Given the description of an element on the screen output the (x, y) to click on. 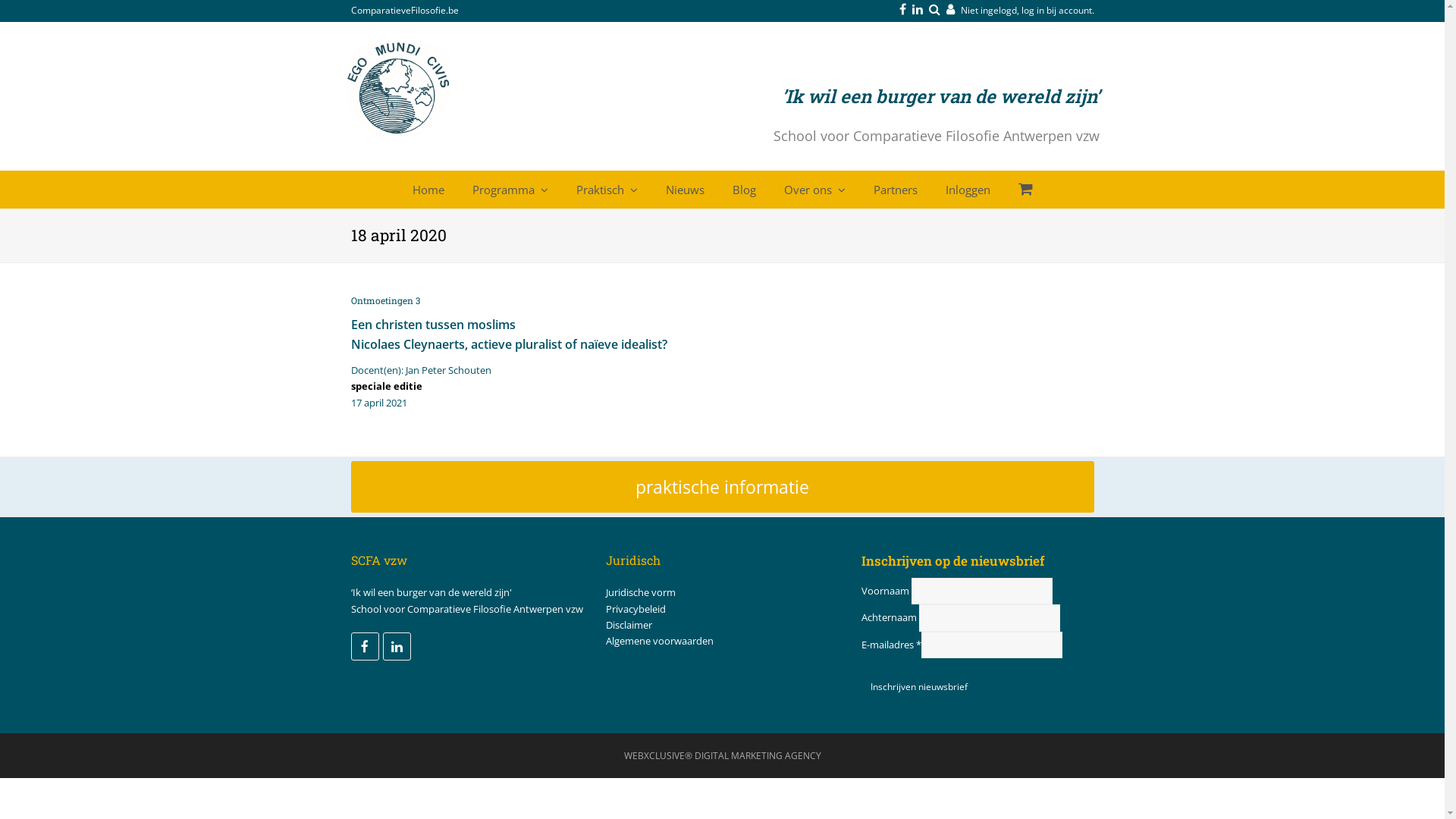
Privacybeleid Element type: text (635, 608)
praktische informatie Element type: text (721, 486)
Inschrijven nieuwsbrief Element type: text (918, 686)
LinkedIn Element type: text (396, 646)
Home Element type: text (427, 189)
ComparatieveFilosofie.be Element type: text (404, 9)
Praktisch Element type: text (605, 189)
Partners Element type: text (894, 189)
Over ons Element type: text (813, 189)
Programma Element type: text (510, 189)
Facebook Element type: text (364, 646)
Blog Element type: text (743, 189)
Disclaimer Element type: text (628, 624)
Inloggen Element type: text (967, 189)
Nieuws Element type: text (684, 189)
Juridische vorm Element type: text (640, 592)
Algemene voorwaarden Element type: text (659, 640)
